Given the description of an element on the screen output the (x, y) to click on. 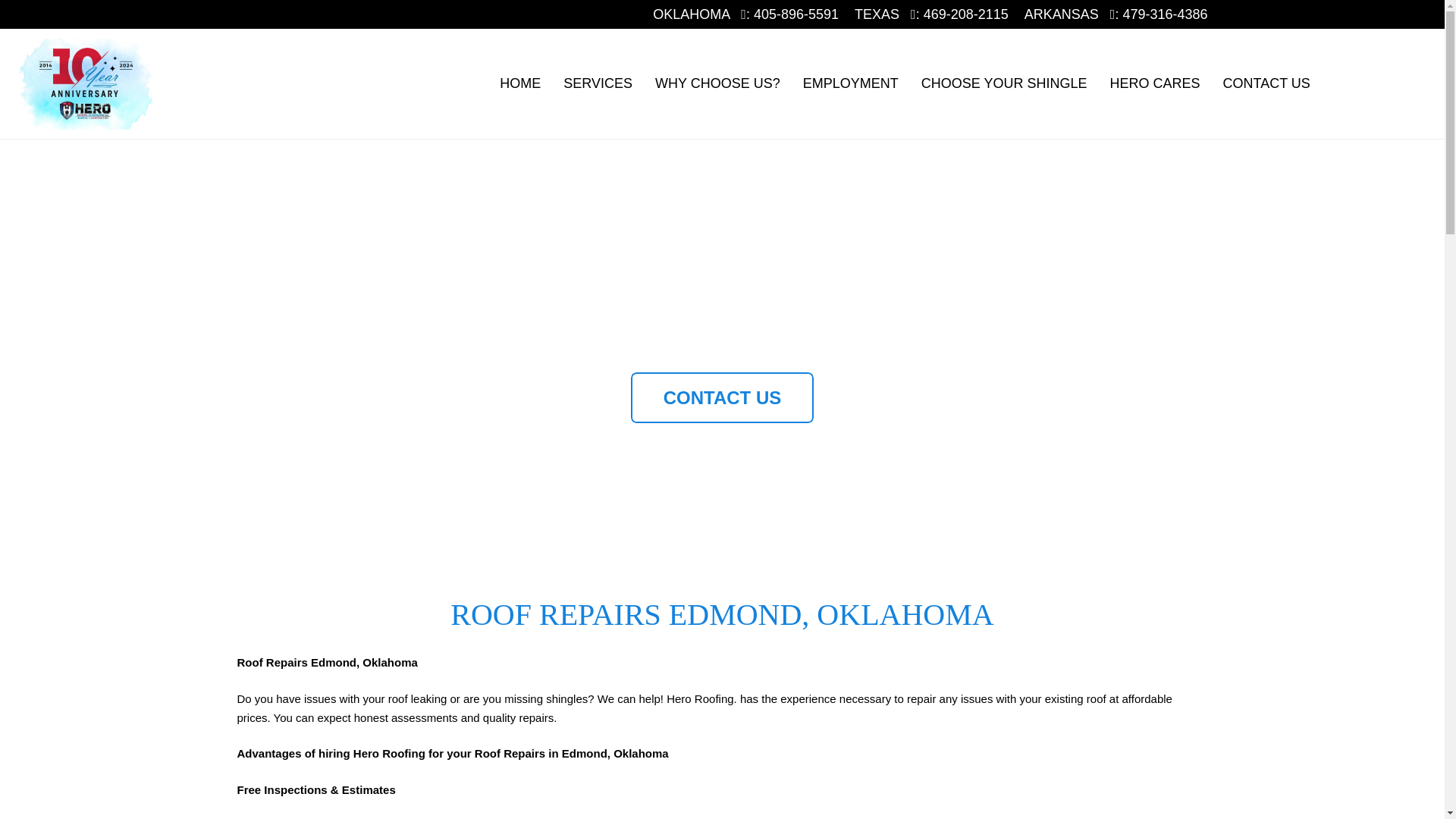
CHOOSE YOUR SHINGLE (1004, 83)
WHY CHOOSE US? (717, 83)
479-316-4386 (1164, 13)
469-208-2115 (966, 13)
CONTACT US (1265, 83)
CONTACT US (721, 397)
405-896-5591 (796, 13)
HOME (519, 83)
SERVICES (597, 83)
HERO CARES (1154, 83)
